Given the description of an element on the screen output the (x, y) to click on. 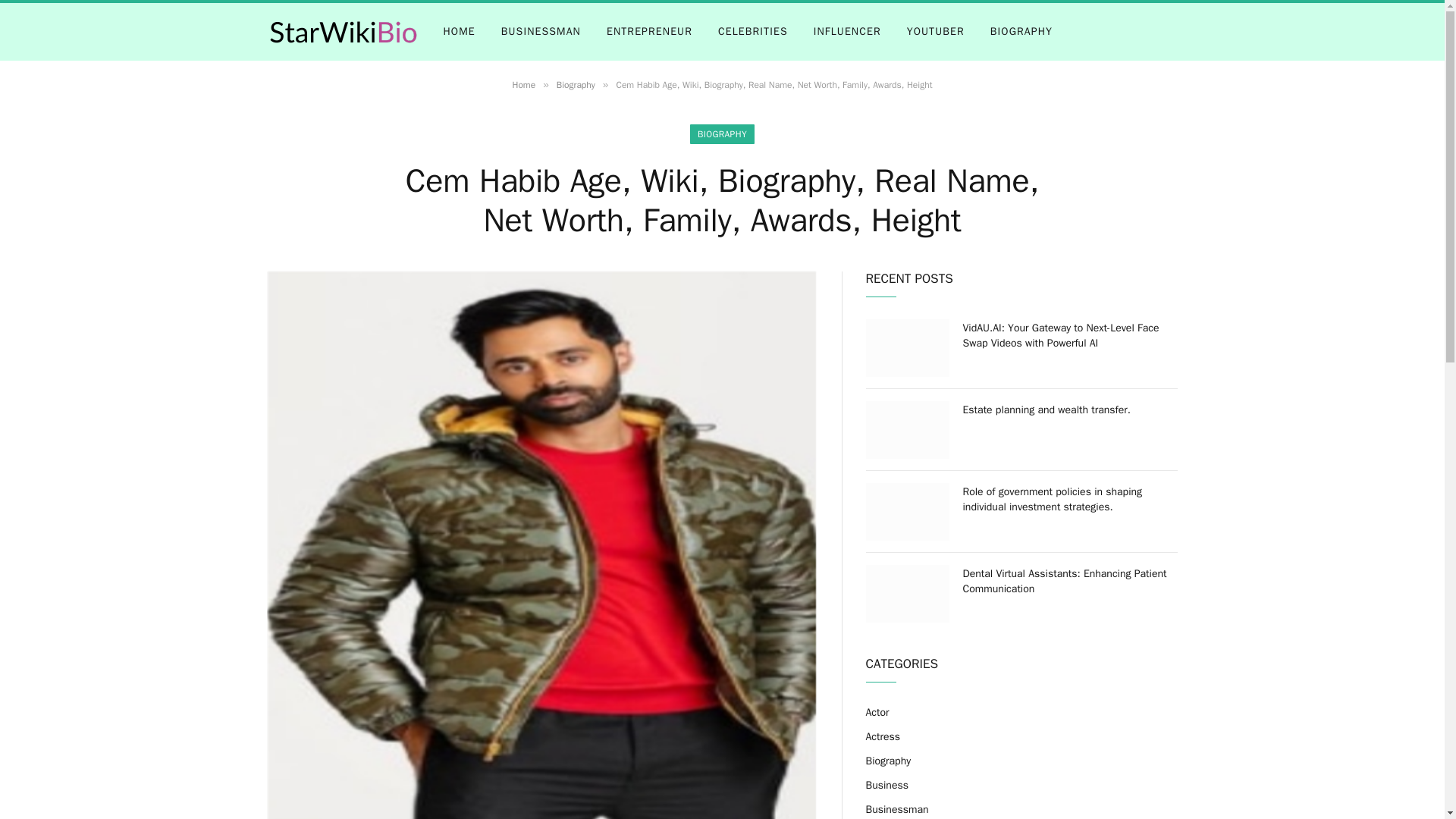
StarWiKiBio (342, 31)
YOUTUBER (934, 31)
INFLUENCER (846, 31)
Actress (883, 736)
Estate planning and wealth transfer. (1069, 409)
Businessman (897, 809)
HOME (458, 31)
